Given the description of an element on the screen output the (x, y) to click on. 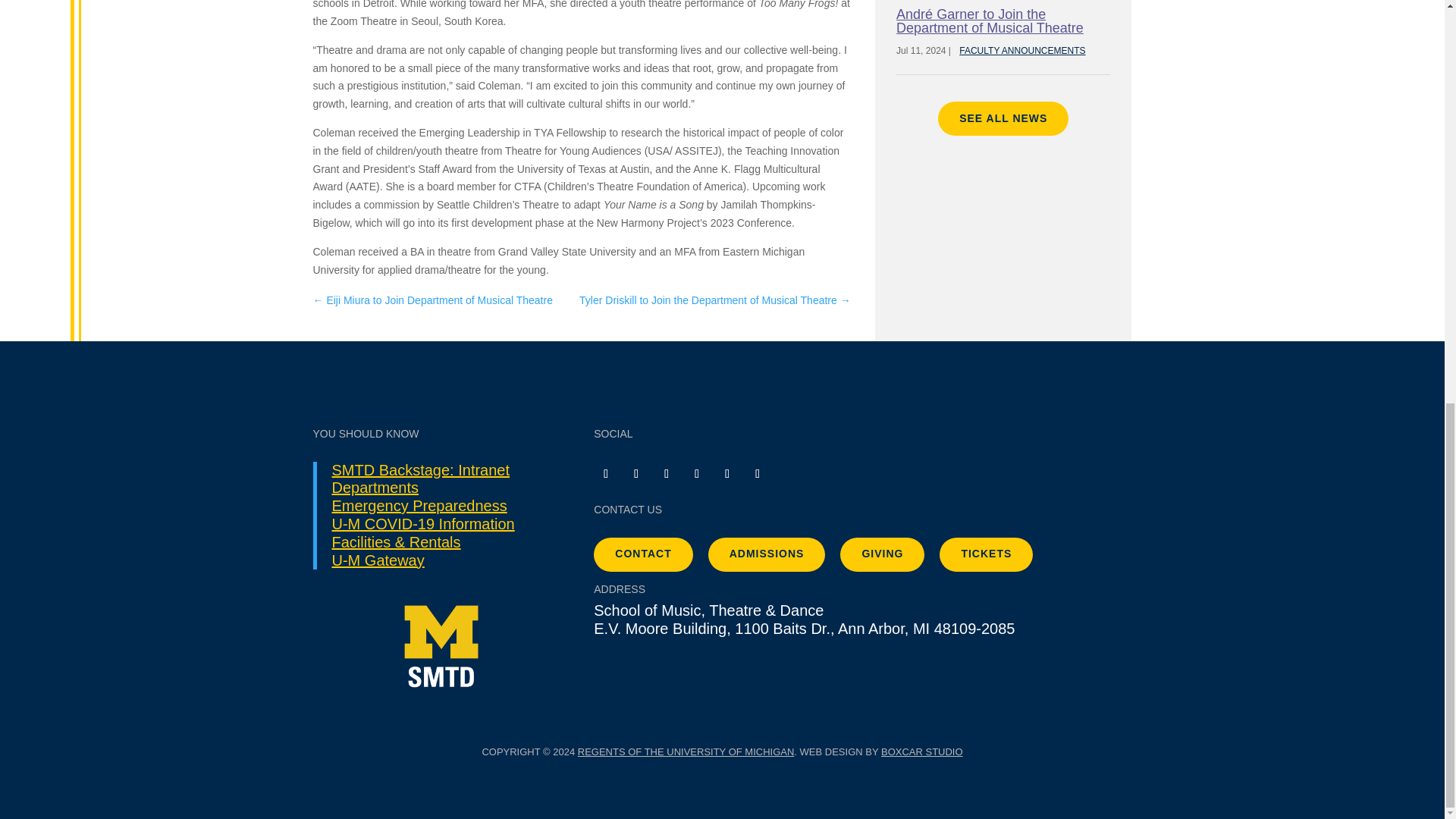
Follow on Twitter (665, 473)
Follow on Facebook (696, 473)
Follow on LinkedIn (726, 473)
Follow on Spotify (757, 473)
Follow on Youtube (635, 473)
Follow on Instagram (605, 473)
